Given the description of an element on the screen output the (x, y) to click on. 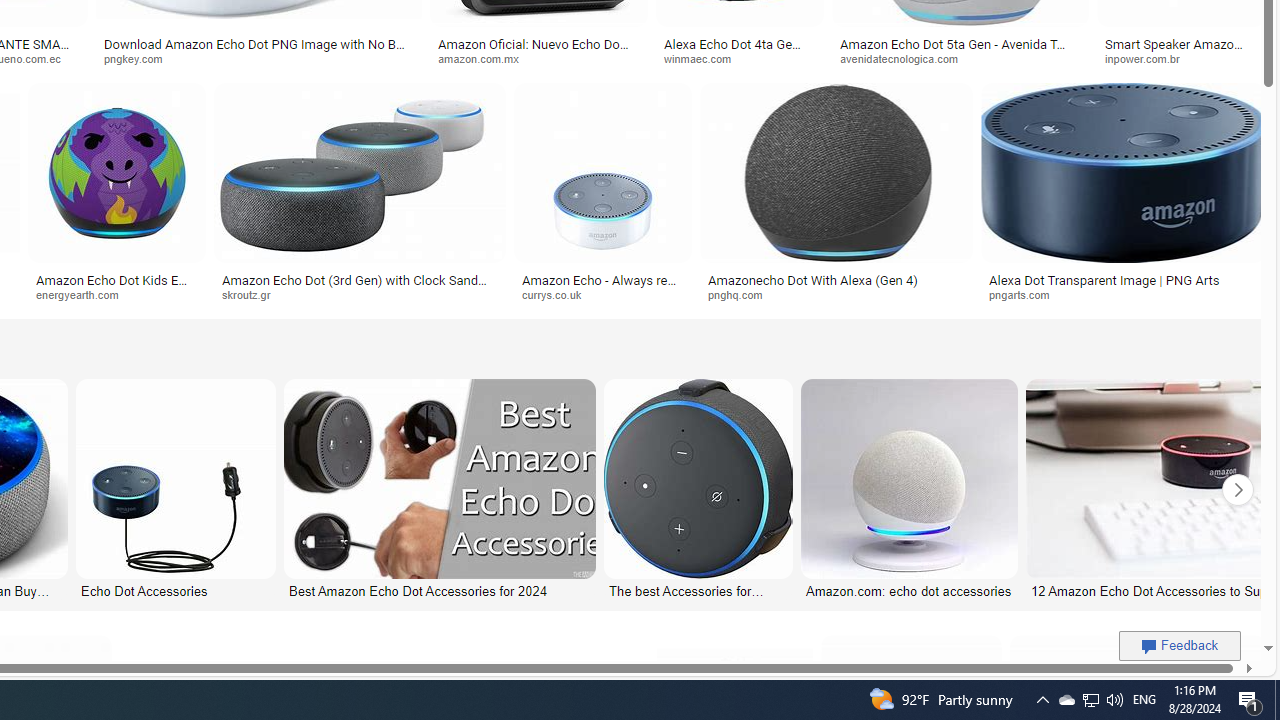
avenidatecnologica.com (960, 58)
Click to scroll right (1238, 489)
avenidatecnologica.com (905, 57)
Alexa Dot Transparent Image | PNG Artspngarts.comSave (1122, 196)
Amazonecho Dot With Alexa (Gen 4)pnghq.comSave (840, 196)
Alexa Dot Transparent Image | PNG Arts (1123, 279)
Echo Dot Accessories (175, 589)
Image result for Amazon Echo Dot PNG (1122, 172)
amazon.com.mx (538, 58)
amazon.com.mx (484, 57)
